Given the description of an element on the screen output the (x, y) to click on. 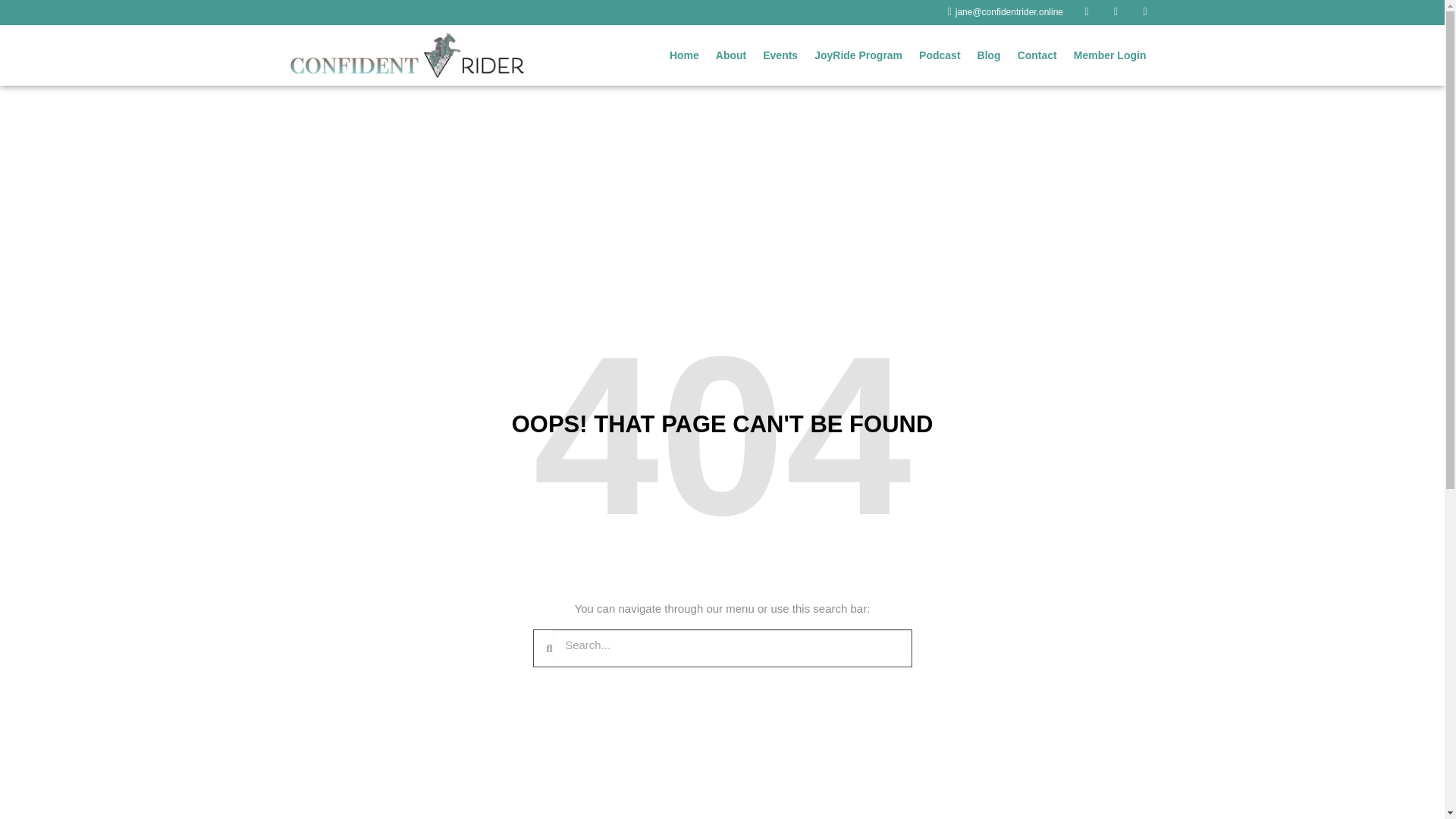
Blog (989, 54)
Home (684, 54)
Podcast (939, 54)
About (730, 54)
JoyRide Program (858, 54)
Events (780, 54)
Member Login (1109, 54)
Contact (1037, 54)
